Given the description of an element on the screen output the (x, y) to click on. 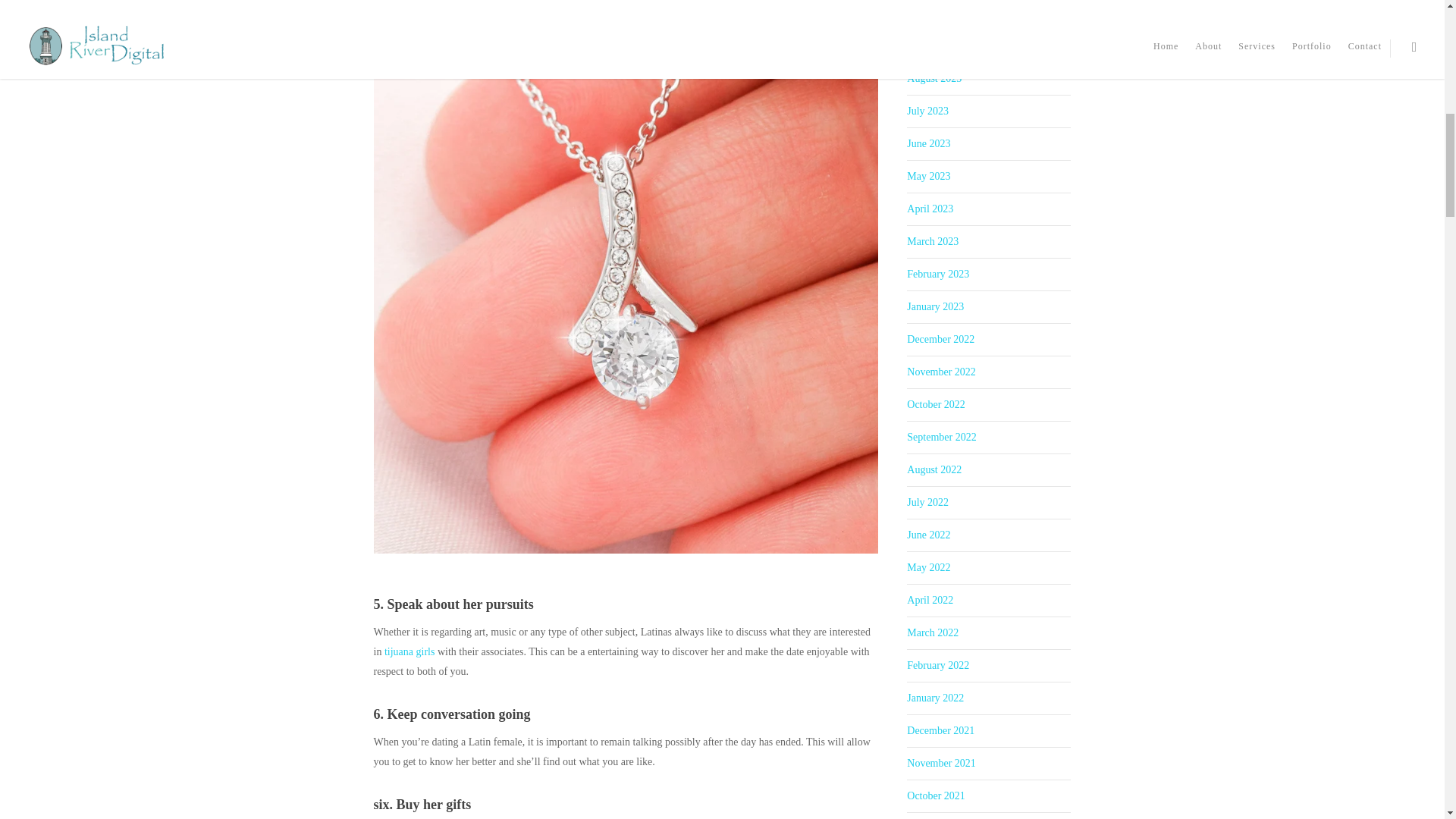
July 2023 (928, 111)
October 2023 (936, 12)
September 2023 (941, 45)
tijuana girls (409, 651)
May 2023 (928, 175)
June 2023 (928, 143)
April 2023 (930, 208)
March 2023 (932, 241)
February 2023 (938, 274)
August 2023 (933, 78)
